Given the description of an element on the screen output the (x, y) to click on. 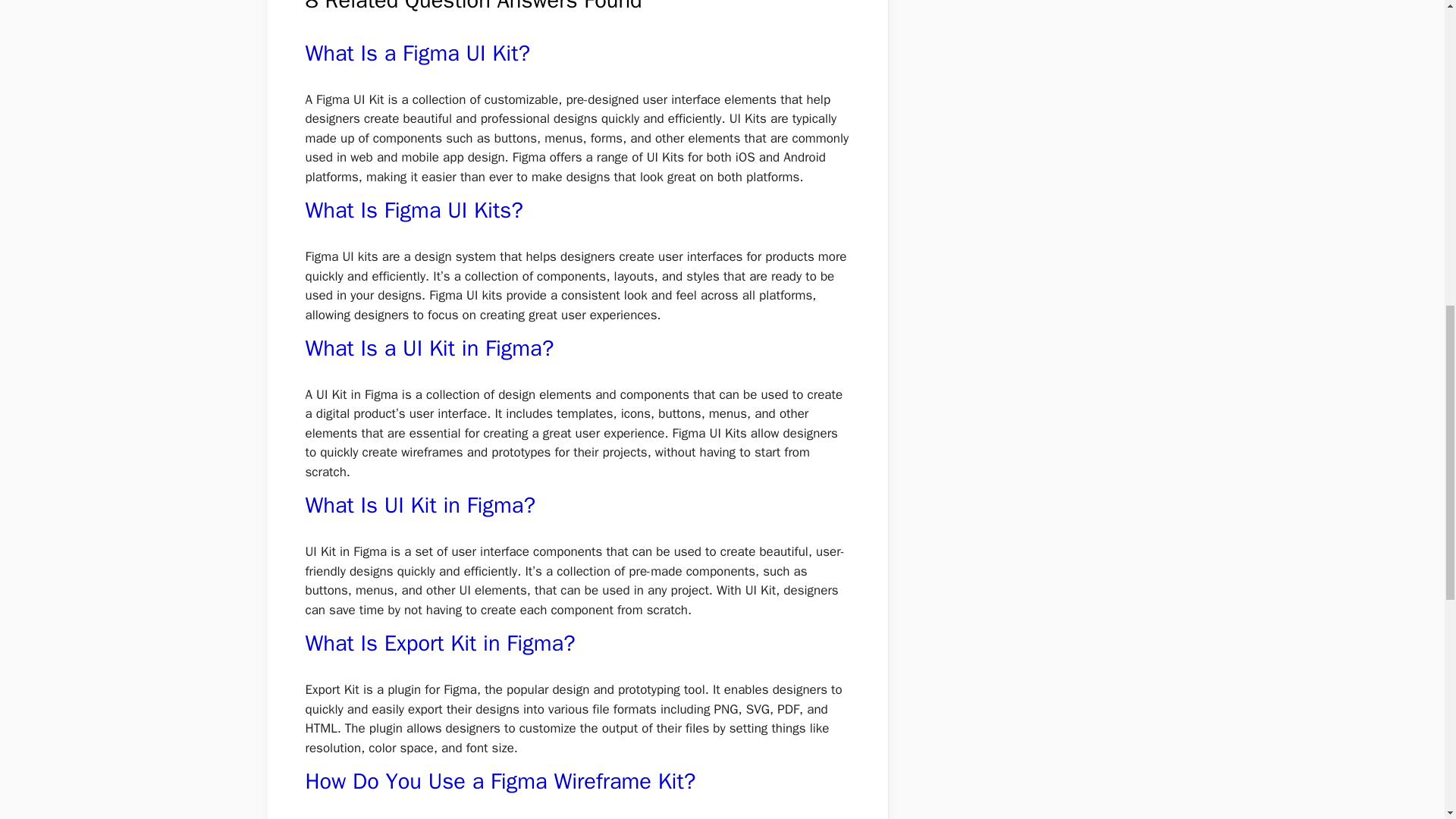
How Do You Use a Figma Wireframe Kit? (499, 781)
What Is UI Kit in Figma? (419, 505)
What Is a UI Kit in Figma? (428, 348)
What Is a Figma UI Kit? (416, 53)
What Is Figma UI Kits? (413, 210)
What Is Export Kit in Figma? (439, 643)
